Given the description of an element on the screen output the (x, y) to click on. 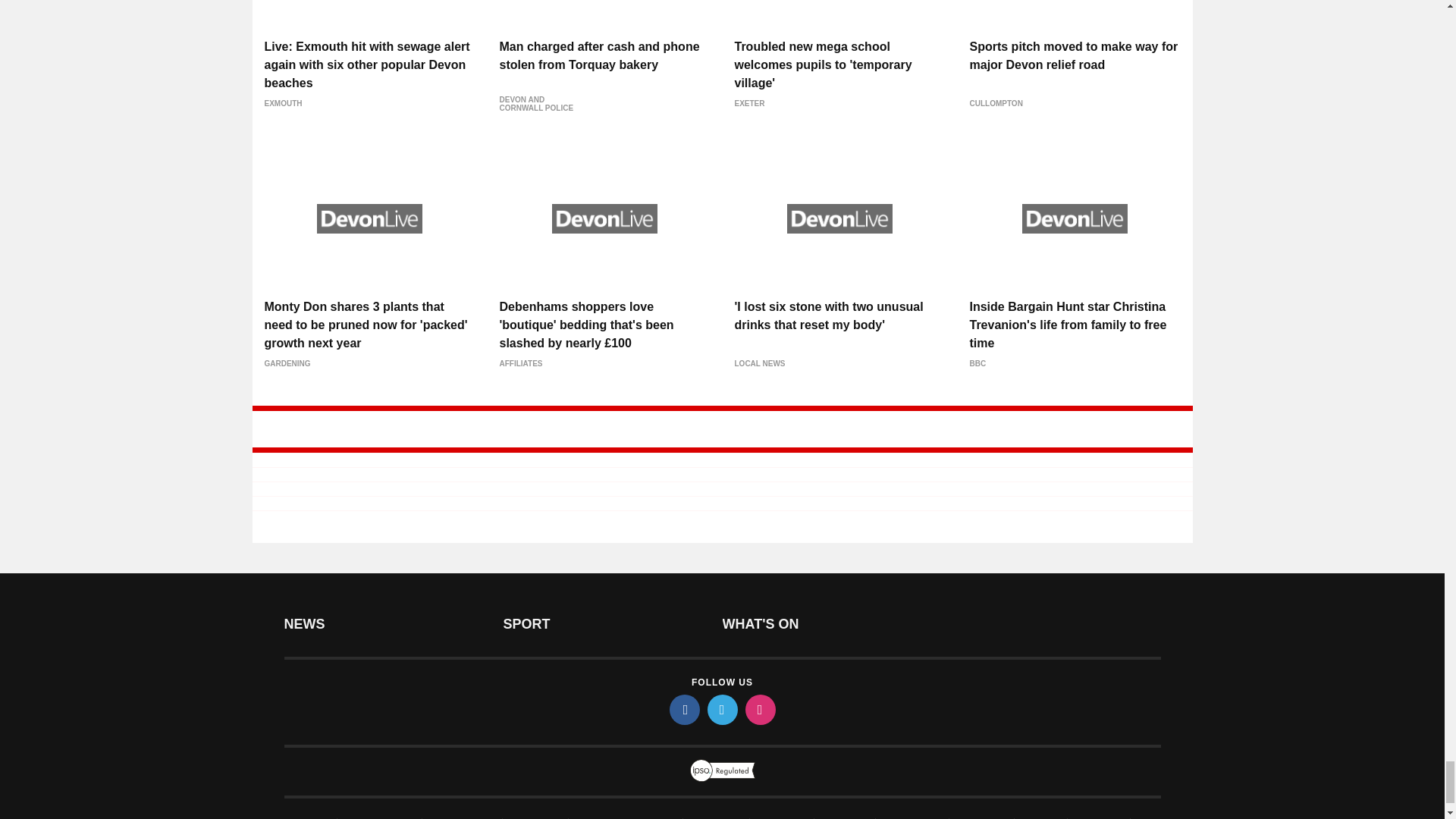
twitter (721, 709)
facebook (683, 709)
instagram (759, 709)
